Given the description of an element on the screen output the (x, y) to click on. 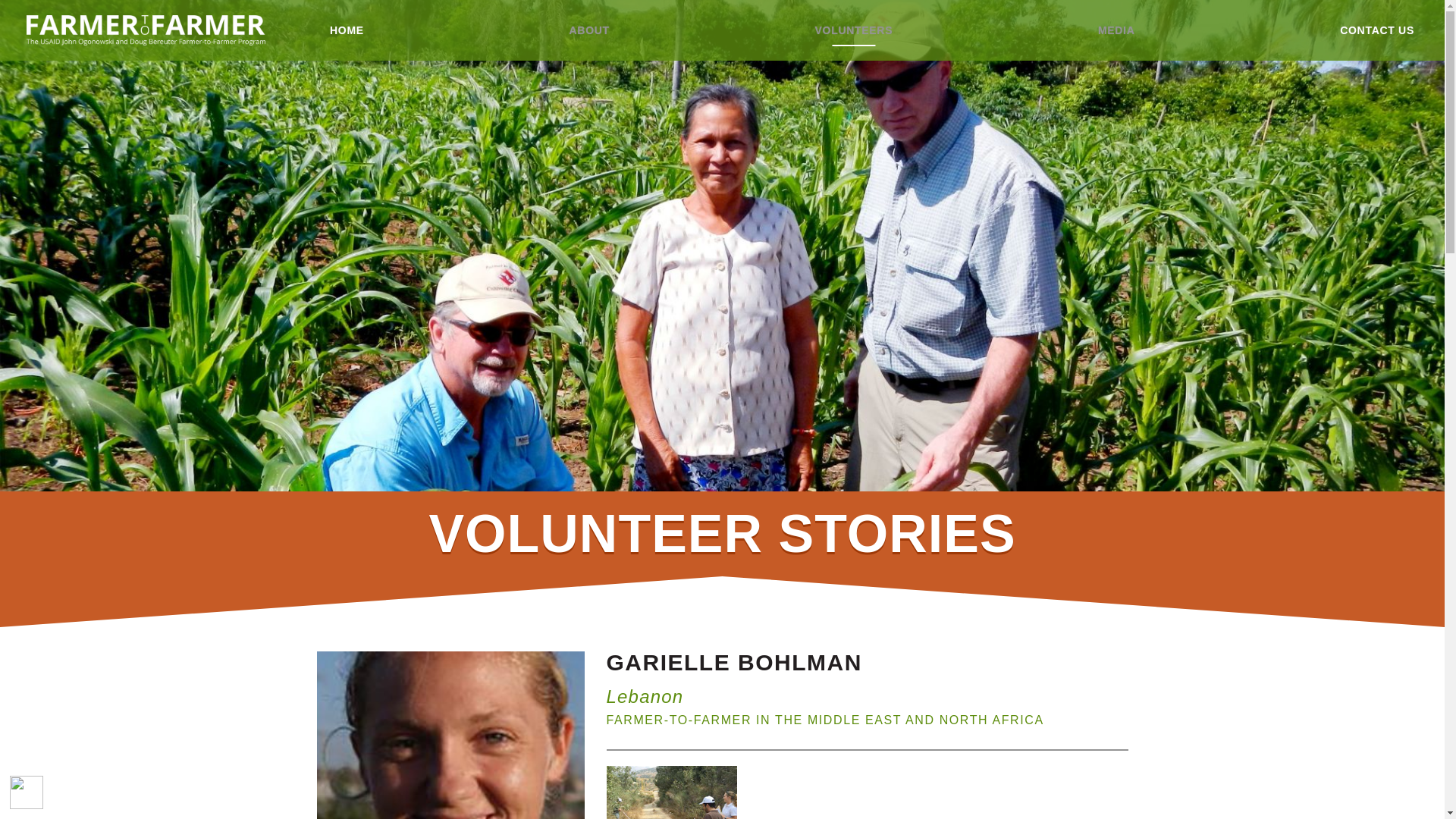
MEDIA (1116, 30)
HOME (346, 30)
ABOUT (589, 30)
CONTACT US (1376, 30)
VOLUNTEERS (853, 30)
